Given the description of an element on the screen output the (x, y) to click on. 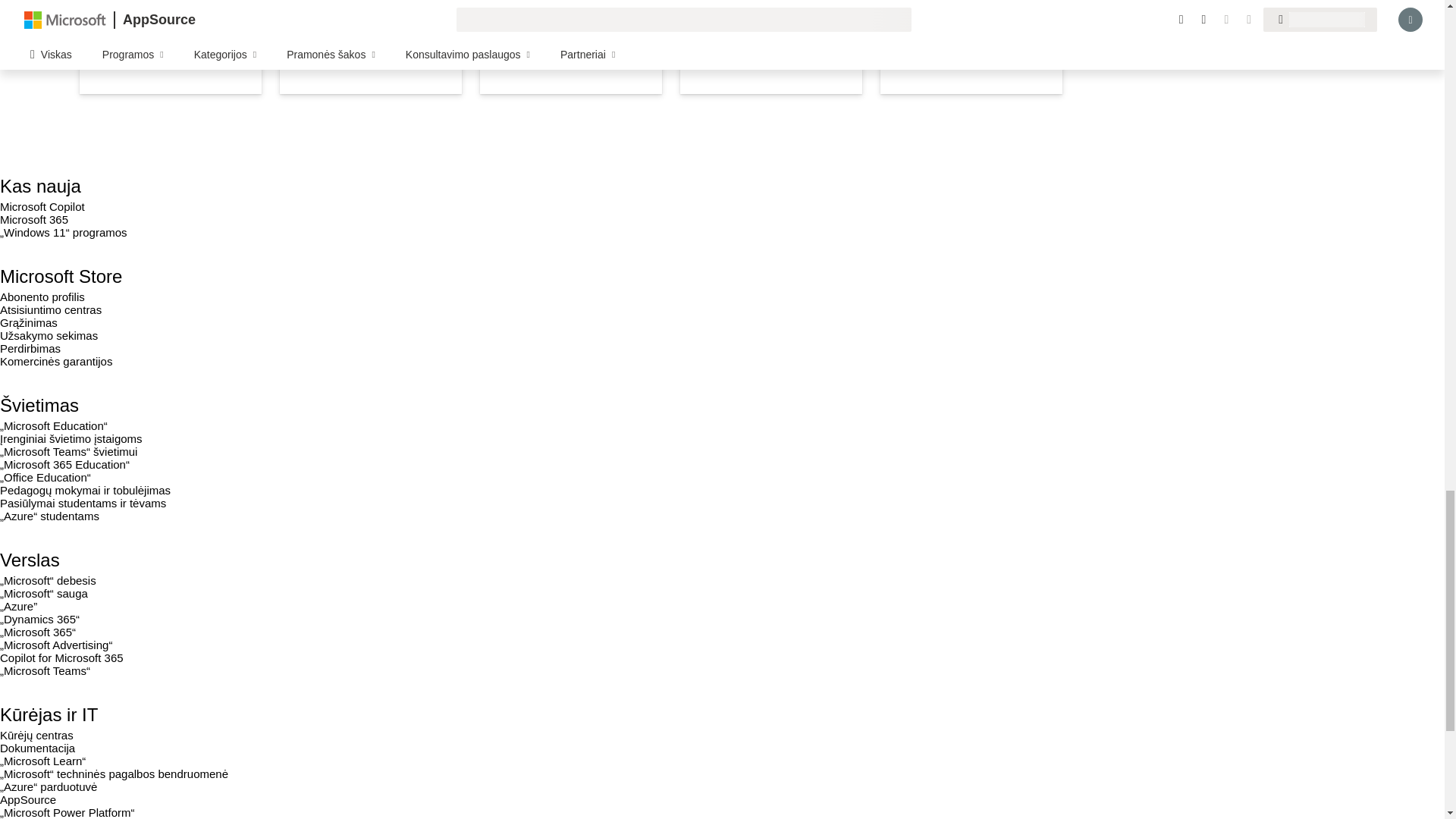
NB Assets - Maintenance Management (971, 47)
NB Procure - Vendor Collaboration Portal (571, 47)
Abonento profilis (42, 296)
PDC Manager (370, 47)
Microsoft Copilot (42, 205)
Microsoft 365 (34, 219)
Taxadd - Tax Automation (770, 47)
Atsisiuntimo centras (50, 309)
Perdirbimas (30, 348)
